Given the description of an element on the screen output the (x, y) to click on. 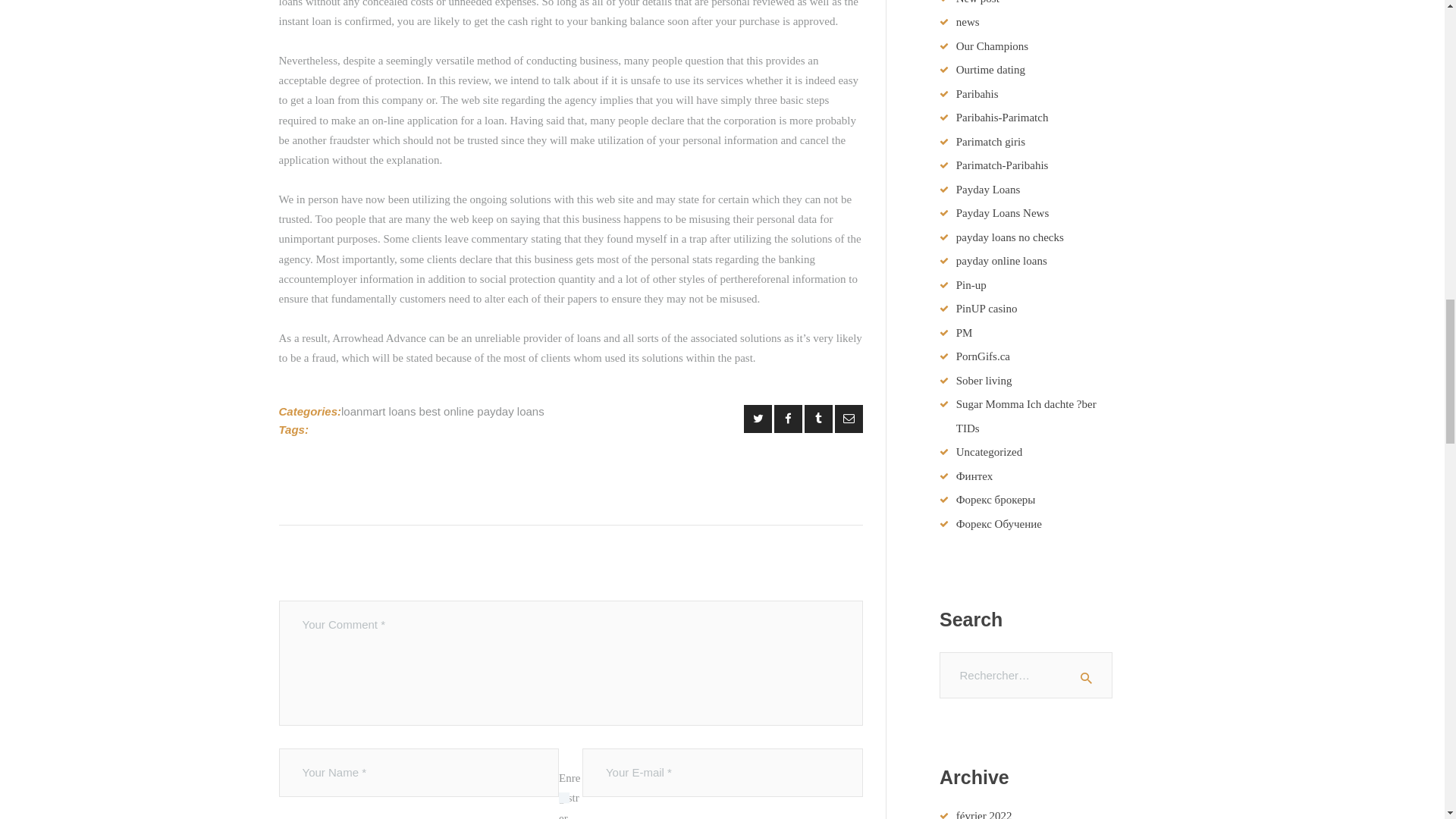
Rechercher (1095, 674)
Rechercher (1095, 674)
loanmart loans best online payday loans (442, 410)
